Given the description of an element on the screen output the (x, y) to click on. 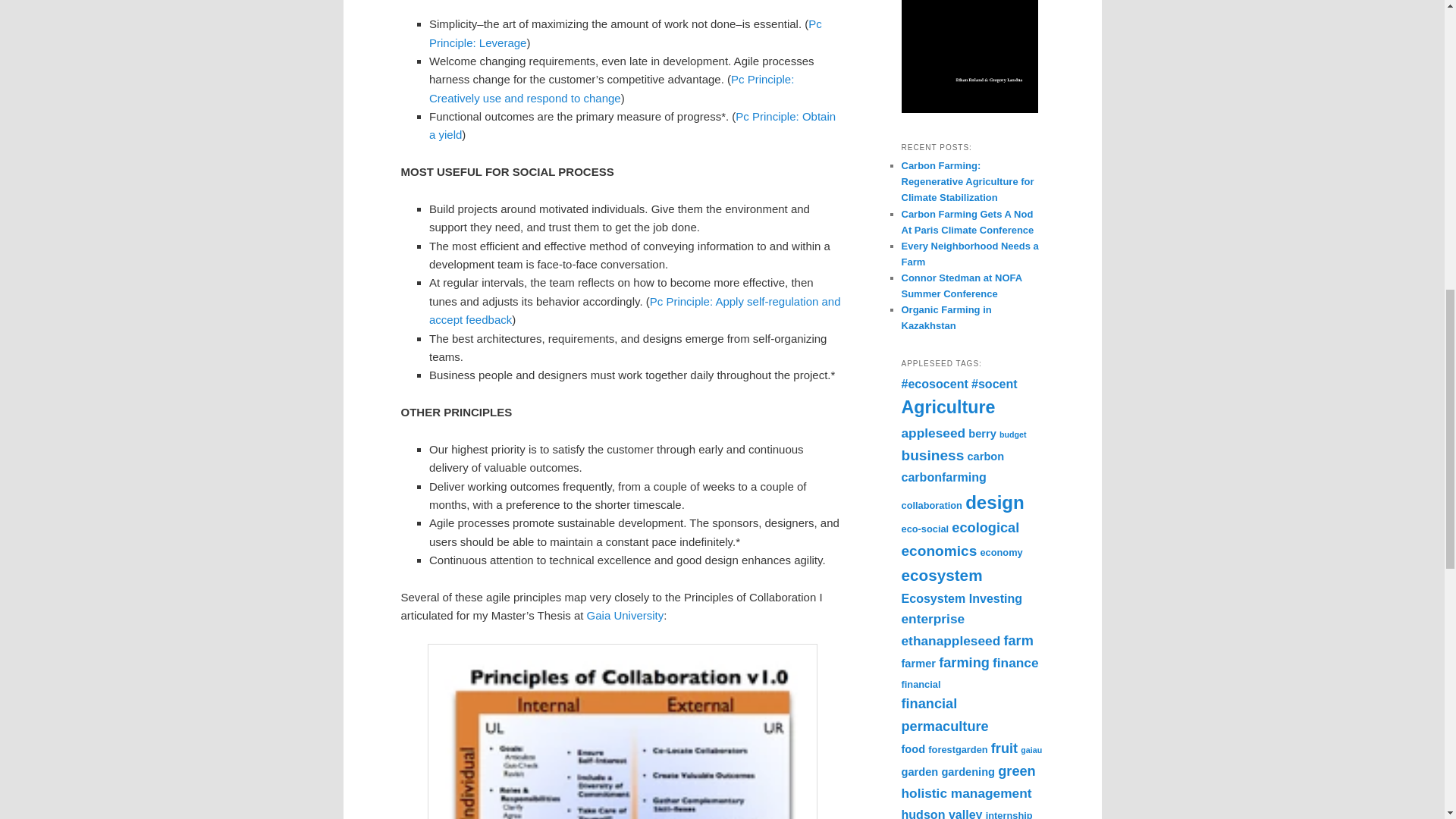
Pc Principle: Creatively use and respond to change (611, 88)
Pc Principle: Apply self-regulation and accept feedback (635, 309)
Principles of Collaboration (622, 731)
Pc Principle: Obtain a yield (632, 124)
Pc Principle: Leverage (625, 32)
Gaia University (624, 615)
